Given the description of an element on the screen output the (x, y) to click on. 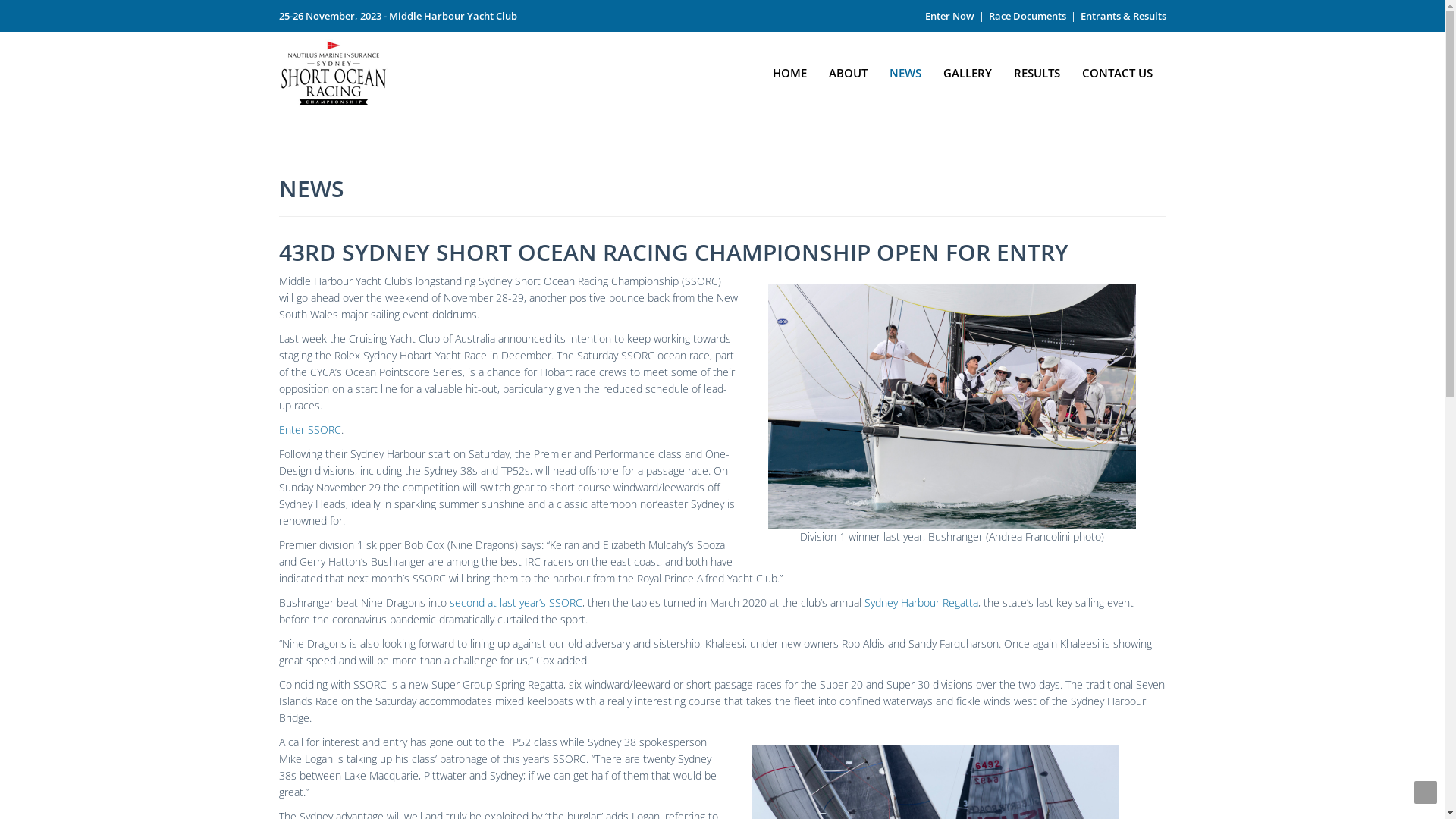
Entrants & Results Element type: text (1122, 15)
RESULTS Element type: text (1036, 68)
HOME Element type: text (789, 68)
Goto Top Element type: hover (1425, 792)
Enter SSORC Element type: text (310, 429)
ABOUT Element type: text (847, 68)
Enter Now Element type: text (949, 15)
CONTACT US Element type: text (1117, 68)
Race Documents Element type: text (1027, 15)
NEWS Element type: text (905, 68)
Sydney Harbour Regatta Element type: text (921, 602)
GALLERY Element type: text (967, 68)
